Given the description of an element on the screen output the (x, y) to click on. 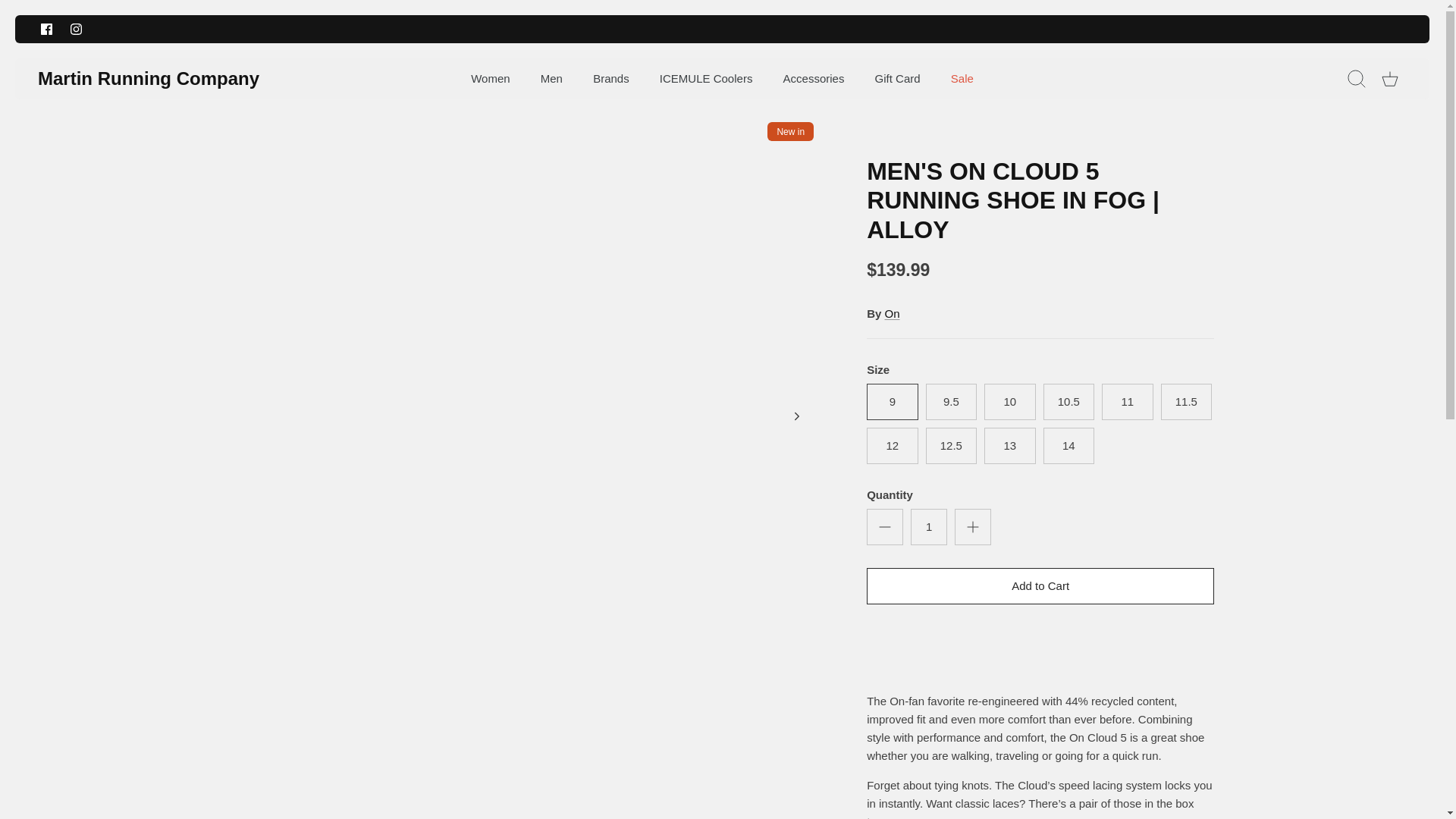
Brands (611, 79)
Right (796, 416)
Facebook (46, 29)
Instagram (75, 29)
Martin Running Company (148, 78)
1 (929, 526)
Men (551, 79)
Facebook (46, 29)
Instagram (75, 29)
Women (489, 79)
